Given the description of an element on the screen output the (x, y) to click on. 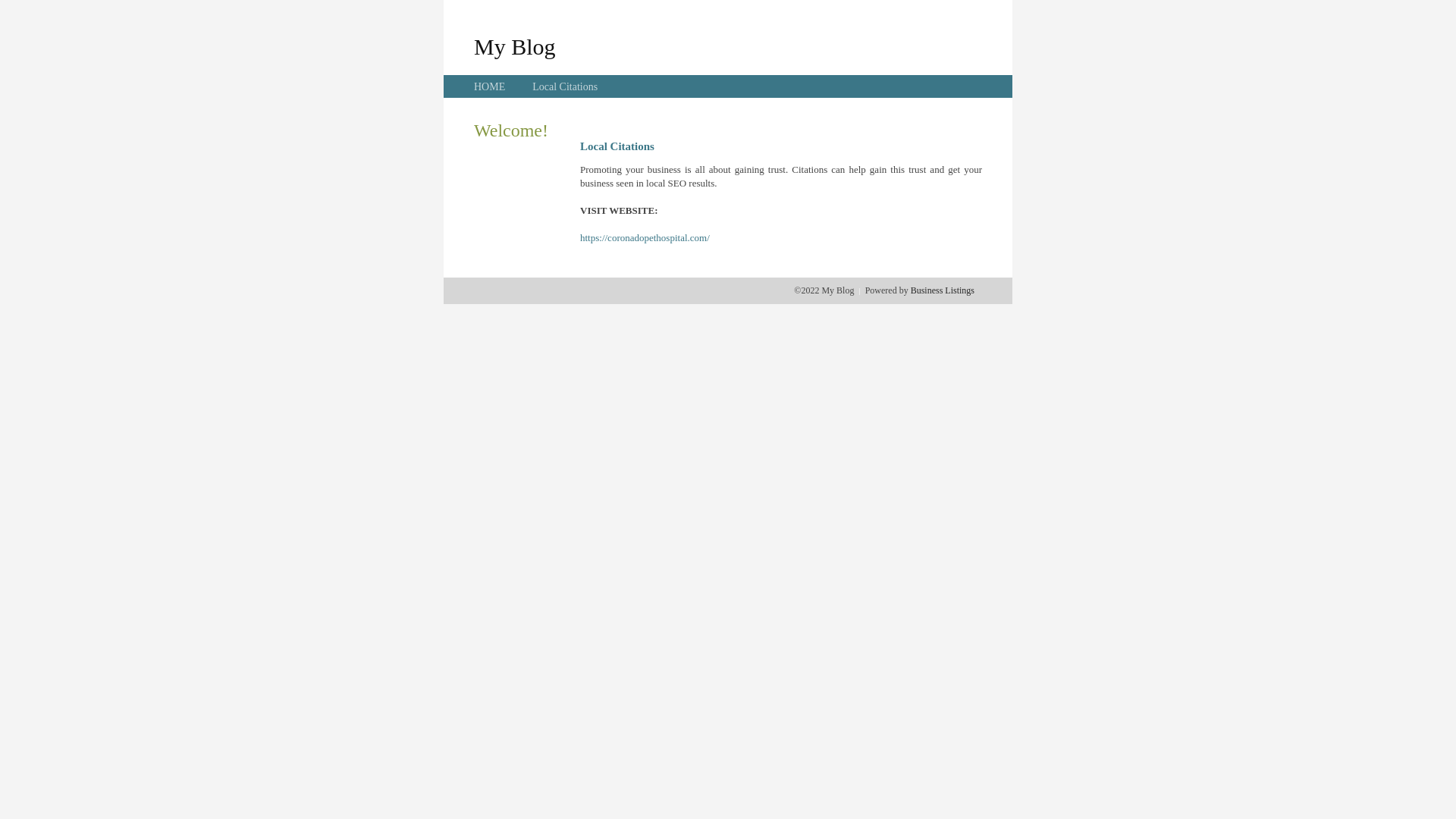
https://coronadopethospital.com/ Element type: text (644, 237)
Business Listings Element type: text (942, 290)
HOME Element type: text (489, 86)
Local Citations Element type: text (564, 86)
My Blog Element type: text (514, 46)
